Given the description of an element on the screen output the (x, y) to click on. 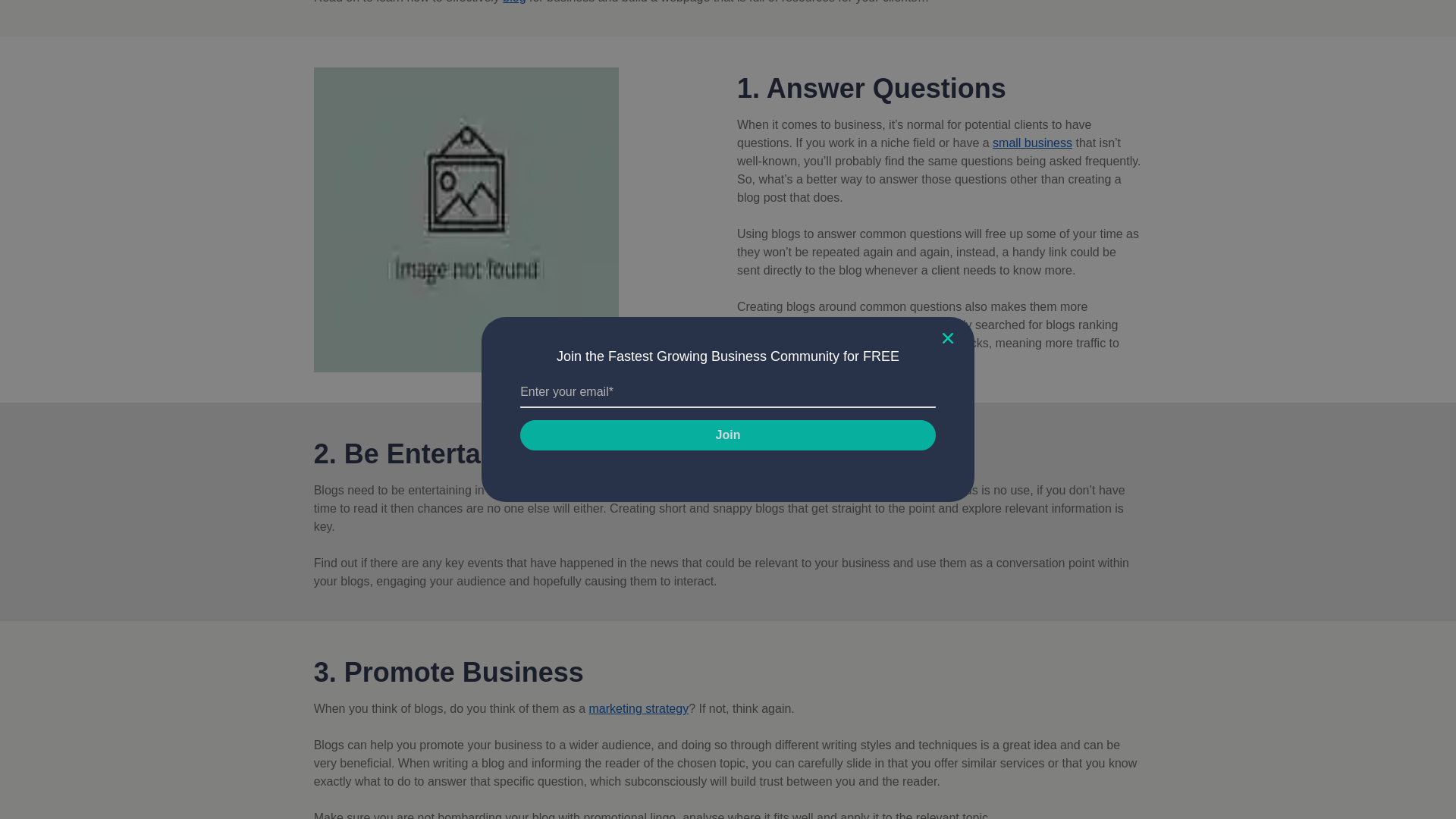
blog (513, 2)
